Given the description of an element on the screen output the (x, y) to click on. 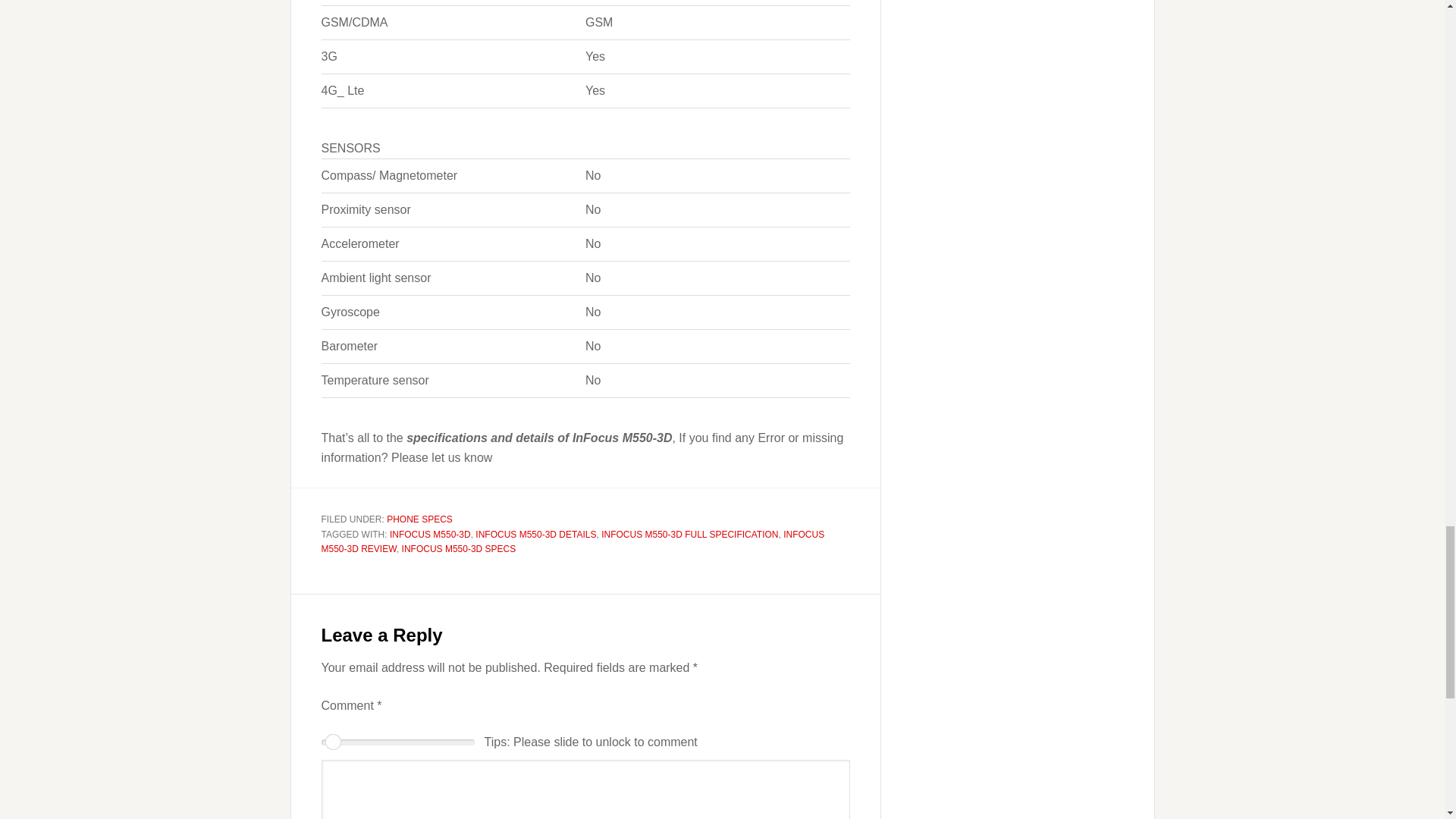
INFOCUS M550-3D FULL SPECIFICATION (689, 534)
INFOCUS M550-3D (430, 534)
INFOCUS M550-3D SPECS (458, 548)
PHONE SPECS (419, 519)
INFOCUS M550-3D DETAILS (535, 534)
INFOCUS M550-3D REVIEW (573, 542)
